Given the description of an element on the screen output the (x, y) to click on. 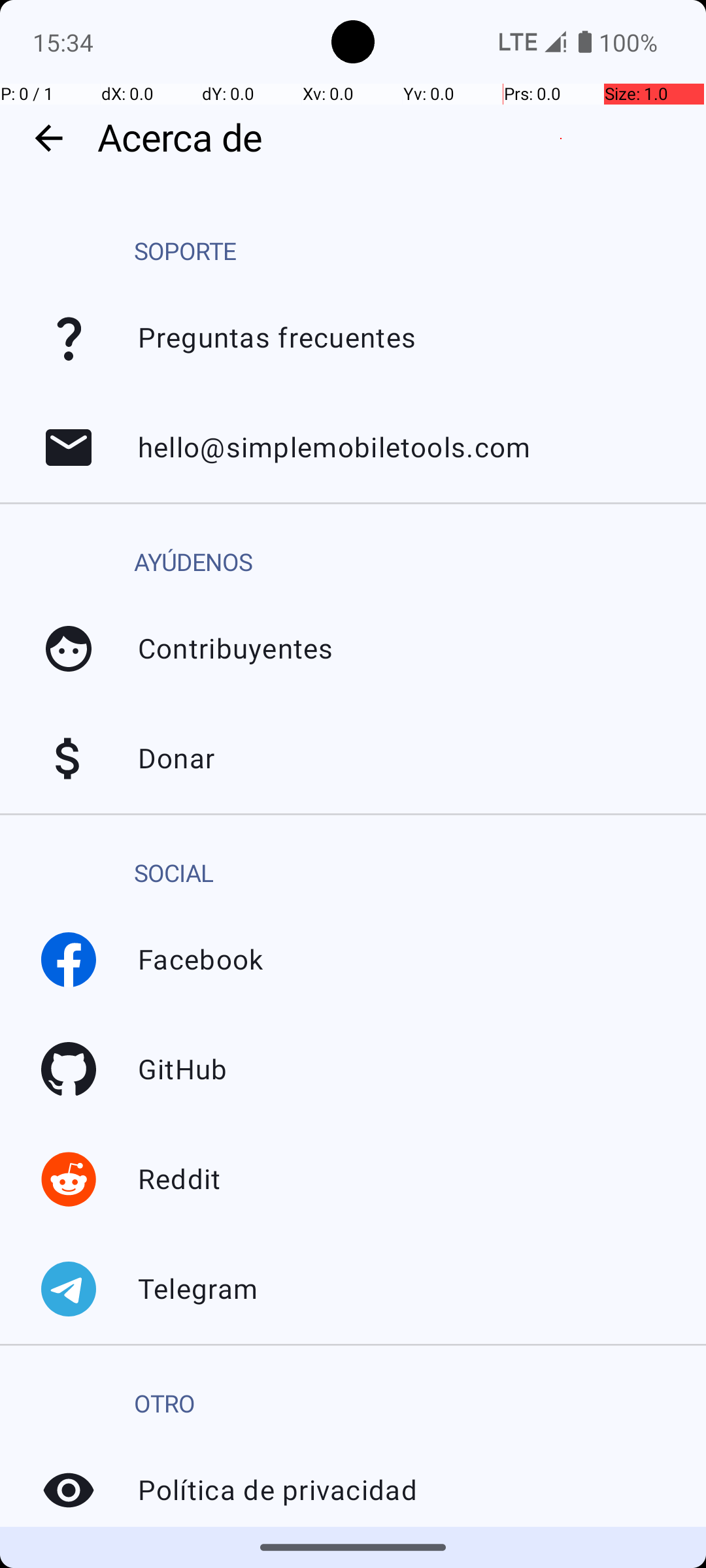
SOPORTE Element type: android.widget.TextView (184, 251)
AYÚDENOS Element type: android.widget.TextView (193, 562)
OTRO Element type: android.widget.TextView (164, 1404)
Acerca de Element type: android.widget.TextView (394, 138)
Preguntas frecuentes Element type: android.view.View (68, 337)
Contribuyentes Element type: android.view.View (68, 648)
Donar Element type: android.view.View (68, 758)
Política de privacidad Element type: android.view.View (68, 1489)
Atrás Element type: android.view.View (48, 137)
